Given the description of an element on the screen output the (x, y) to click on. 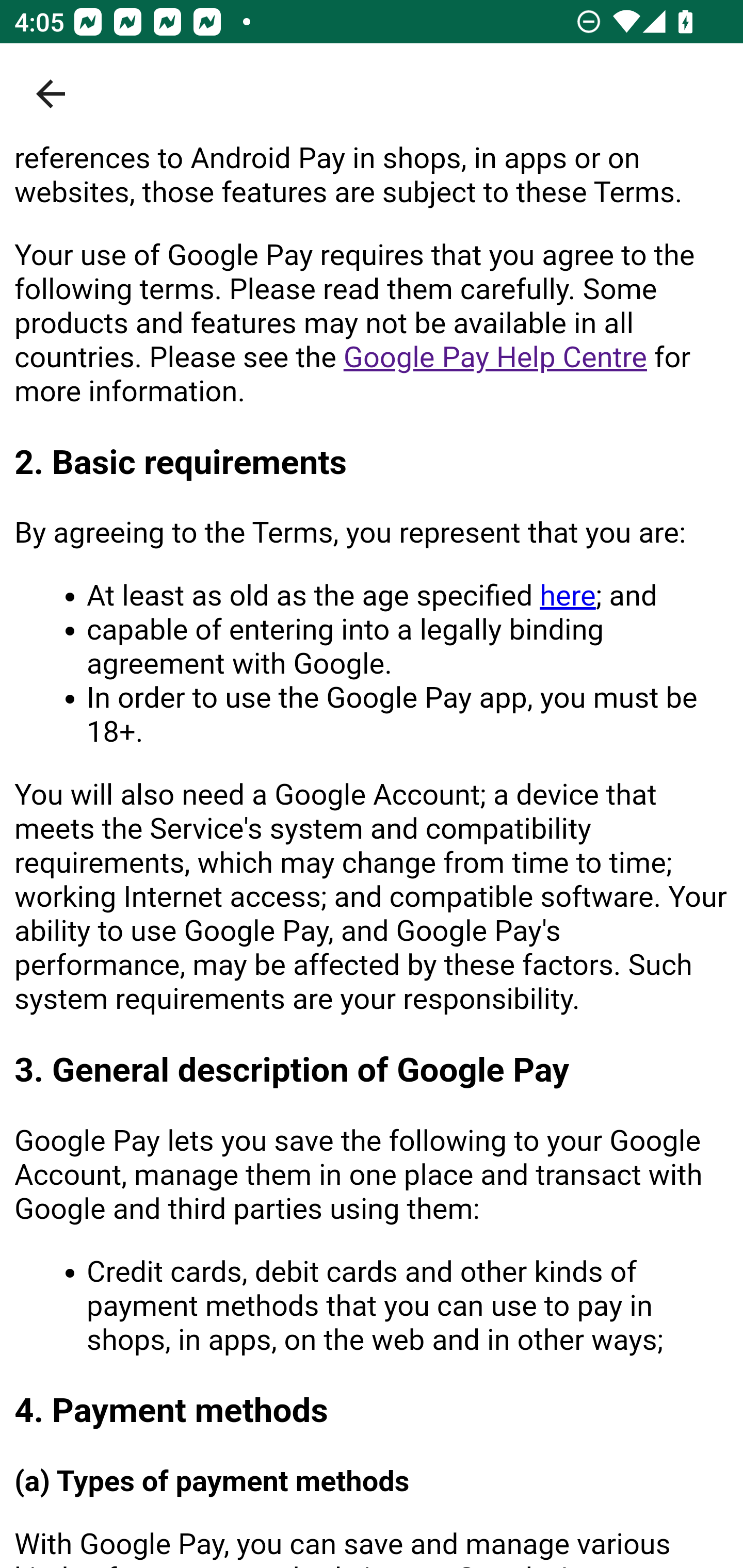
Navigate up (50, 93)
Google Pay Help Centre (495, 357)
here (566, 595)
